Given the description of an element on the screen output the (x, y) to click on. 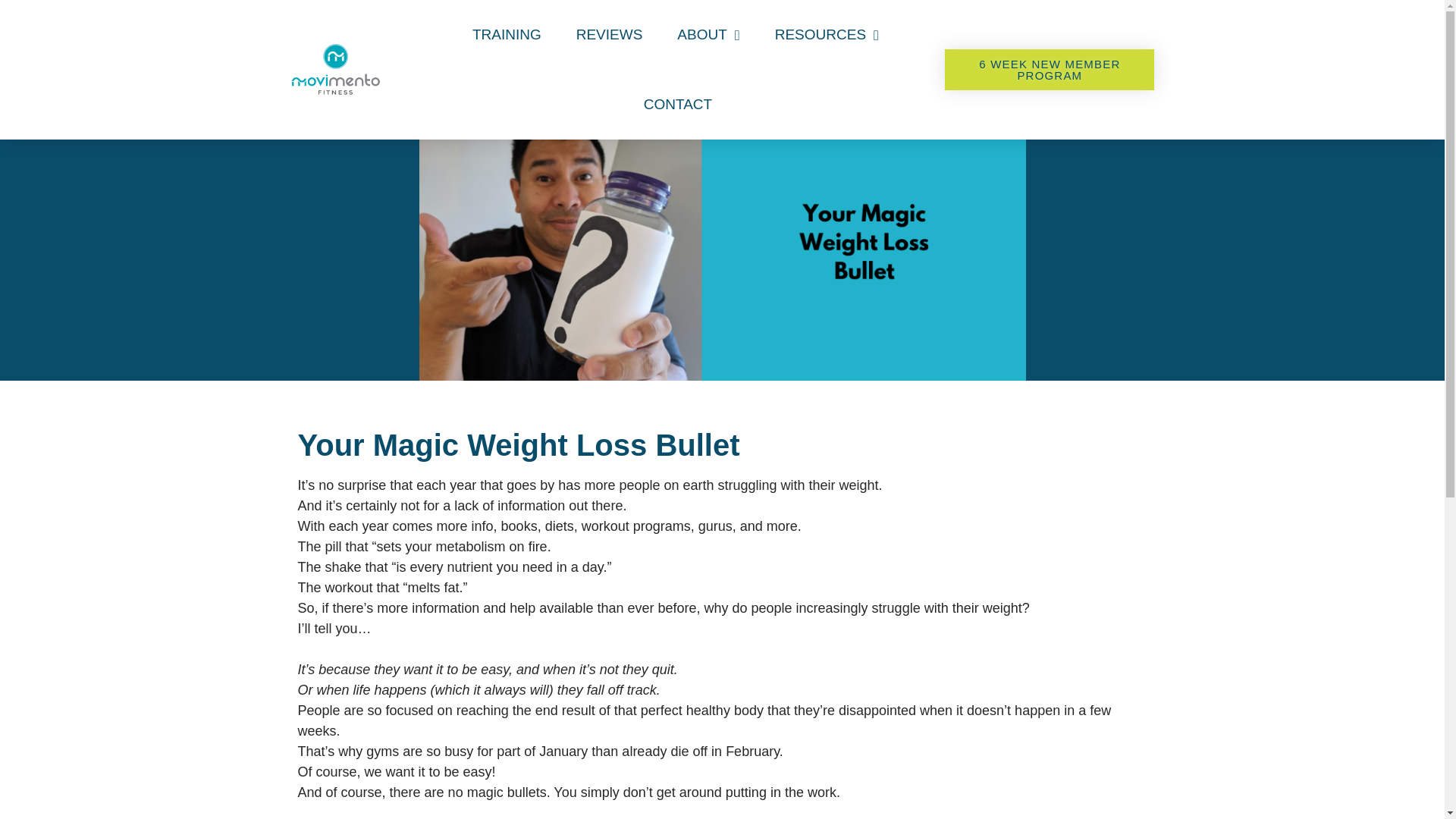
REVIEWS (609, 34)
TRAINING (506, 34)
6 WEEK NEW MEMBER PROGRAM (1049, 69)
ABOUT (708, 34)
RESOURCES (826, 34)
CONTACT (677, 104)
